Given the description of an element on the screen output the (x, y) to click on. 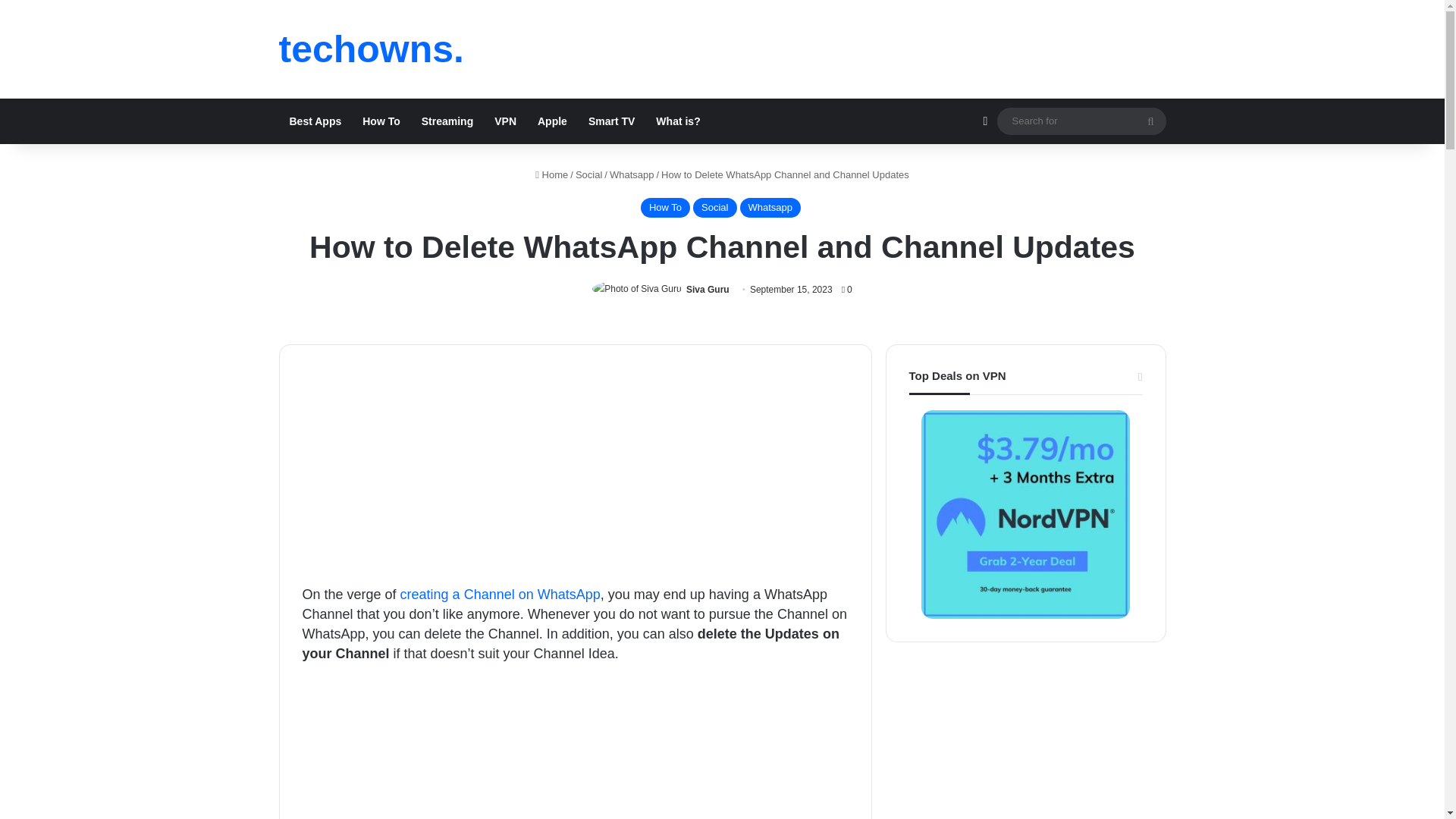
Streaming (446, 121)
Search for (1080, 120)
VPN (505, 121)
Advertisement (574, 750)
techowns. (371, 48)
Social (714, 207)
Advertisement (574, 472)
Social (588, 174)
How To (381, 121)
Whatsapp (770, 207)
Siva Guru (707, 289)
How To (665, 207)
creating a Channel on WhatsApp (499, 594)
techowns. (371, 48)
Search for (1150, 121)
